Given the description of an element on the screen output the (x, y) to click on. 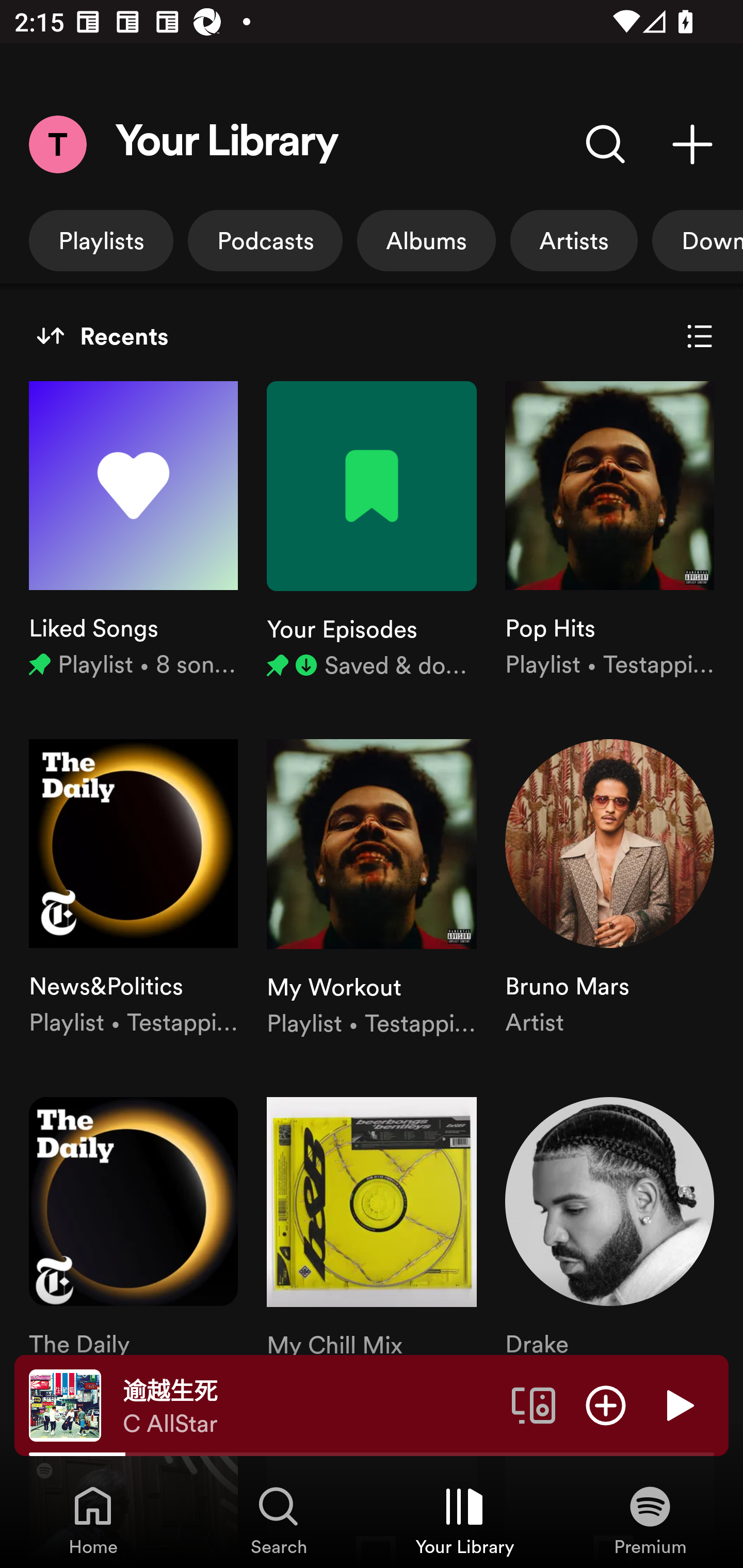
Menu (57, 144)
Search Your Library (605, 144)
Create playlist (692, 144)
Your Library Your Library Heading (226, 144)
Playlists, show only playlists. (100, 240)
Podcasts, show only podcasts. (264, 240)
Albums, show only albums. (426, 240)
Artists, show only artists. (573, 240)
Downloaded, show only downloaded. (697, 240)
Recents (101, 336)
Show List view (699, 336)
Bruno Mars, Artist,  Bruno Mars Artist (609, 888)
Drake, Artist,  Drake Artist (609, 1247)
逾越生死 C AllStar (309, 1405)
The cover art of the currently playing track (64, 1404)
Connect to a device. Opens the devices menu (533, 1404)
Add item (605, 1404)
Play (677, 1404)
Home, Tab 1 of 4 Home Home (92, 1519)
Search, Tab 2 of 4 Search Search (278, 1519)
Your Library, Tab 3 of 4 Your Library Your Library (464, 1519)
Premium, Tab 4 of 4 Premium Premium (650, 1519)
